Given the description of an element on the screen output the (x, y) to click on. 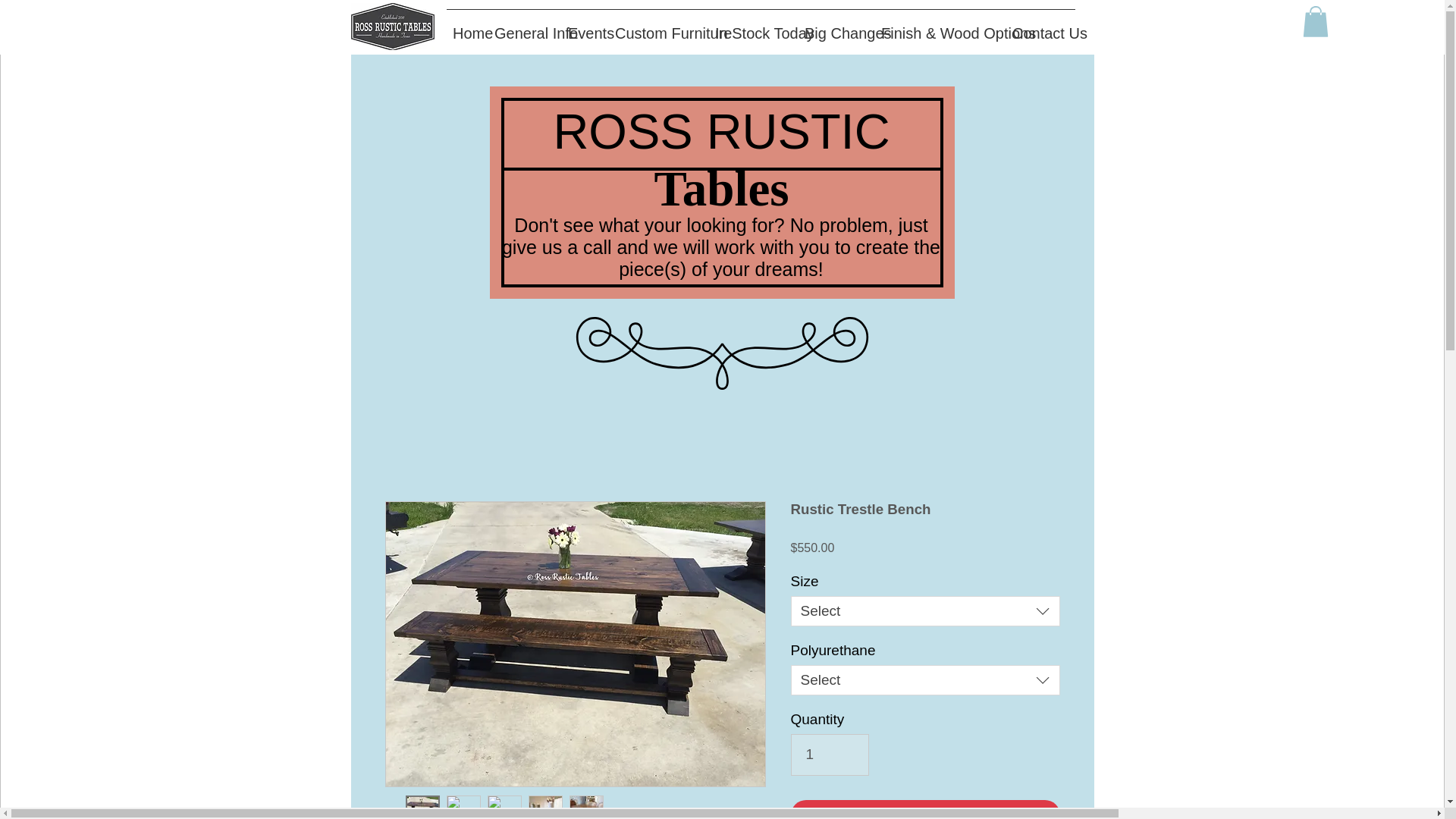
1 (829, 754)
Select (924, 611)
General Info (524, 27)
Select (924, 680)
Events (585, 27)
Contact Us (1040, 27)
Home (466, 27)
Custom Furniture (658, 27)
Add to Cart (924, 809)
Big Changes (836, 27)
